Given the description of an element on the screen output the (x, y) to click on. 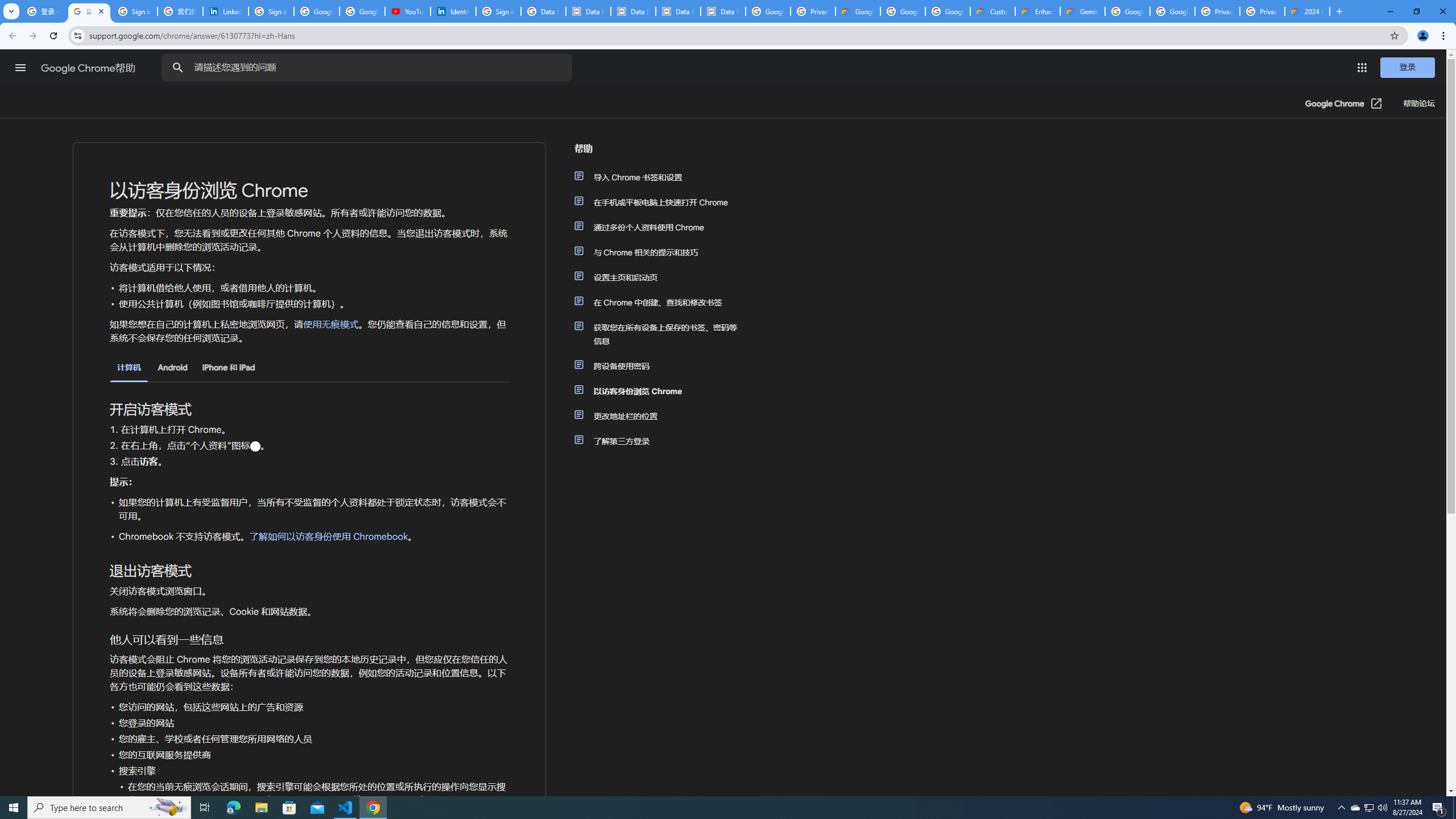
Google Cloud Platform (1126, 11)
Android (172, 367)
Google Cloud Platform (1171, 11)
